Given the description of an element on the screen output the (x, y) to click on. 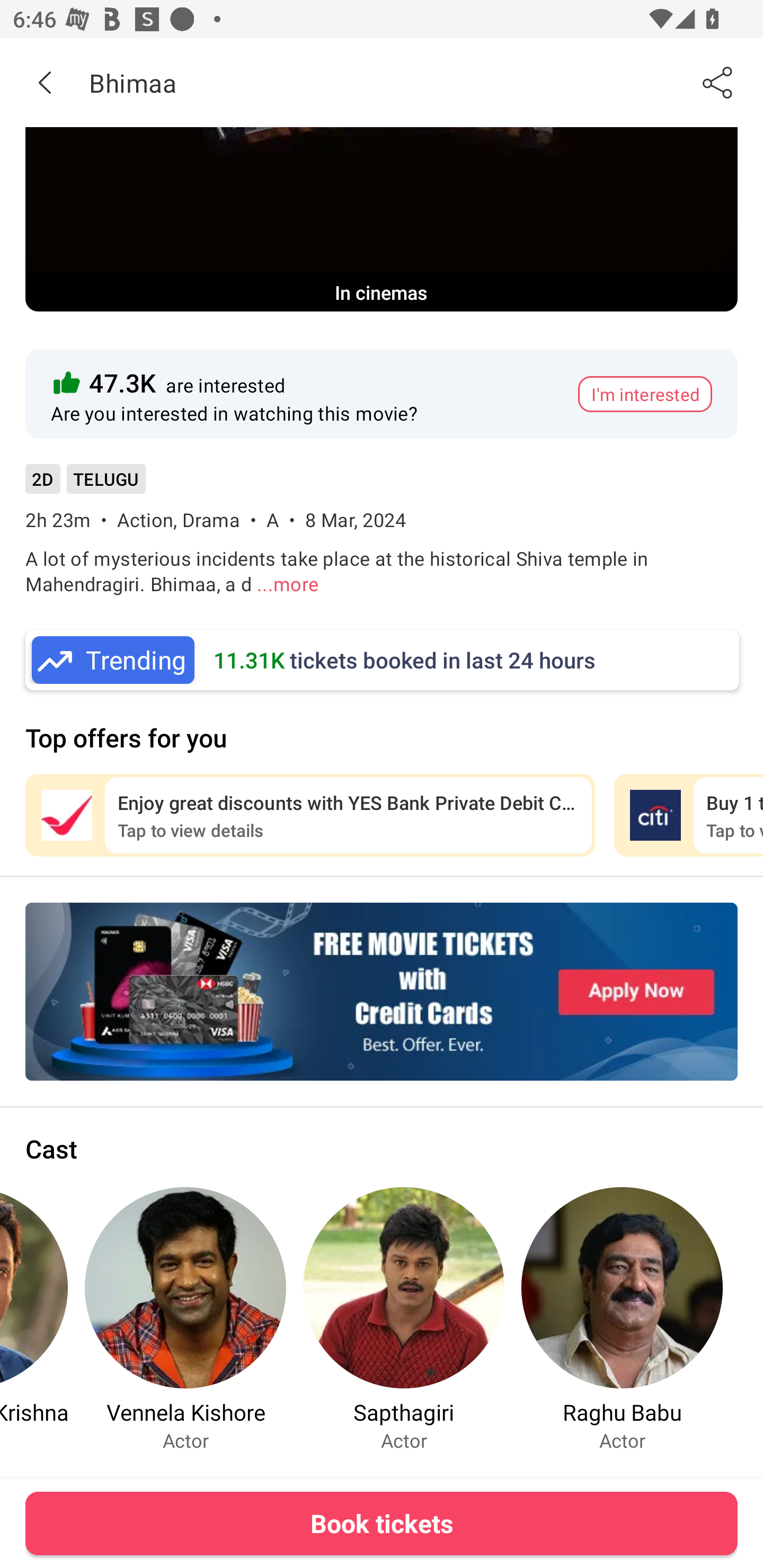
Back (44, 82)
Share (718, 82)
Movie Banner In cinemas (381, 219)
I'm interested (644, 394)
2D TELUGU (85, 485)
Vennela Kishore Actor (185, 1319)
Sapthagiri Actor (403, 1319)
Raghu Babu Actor (621, 1319)
Book tickets (381, 1523)
